Given the description of an element on the screen output the (x, y) to click on. 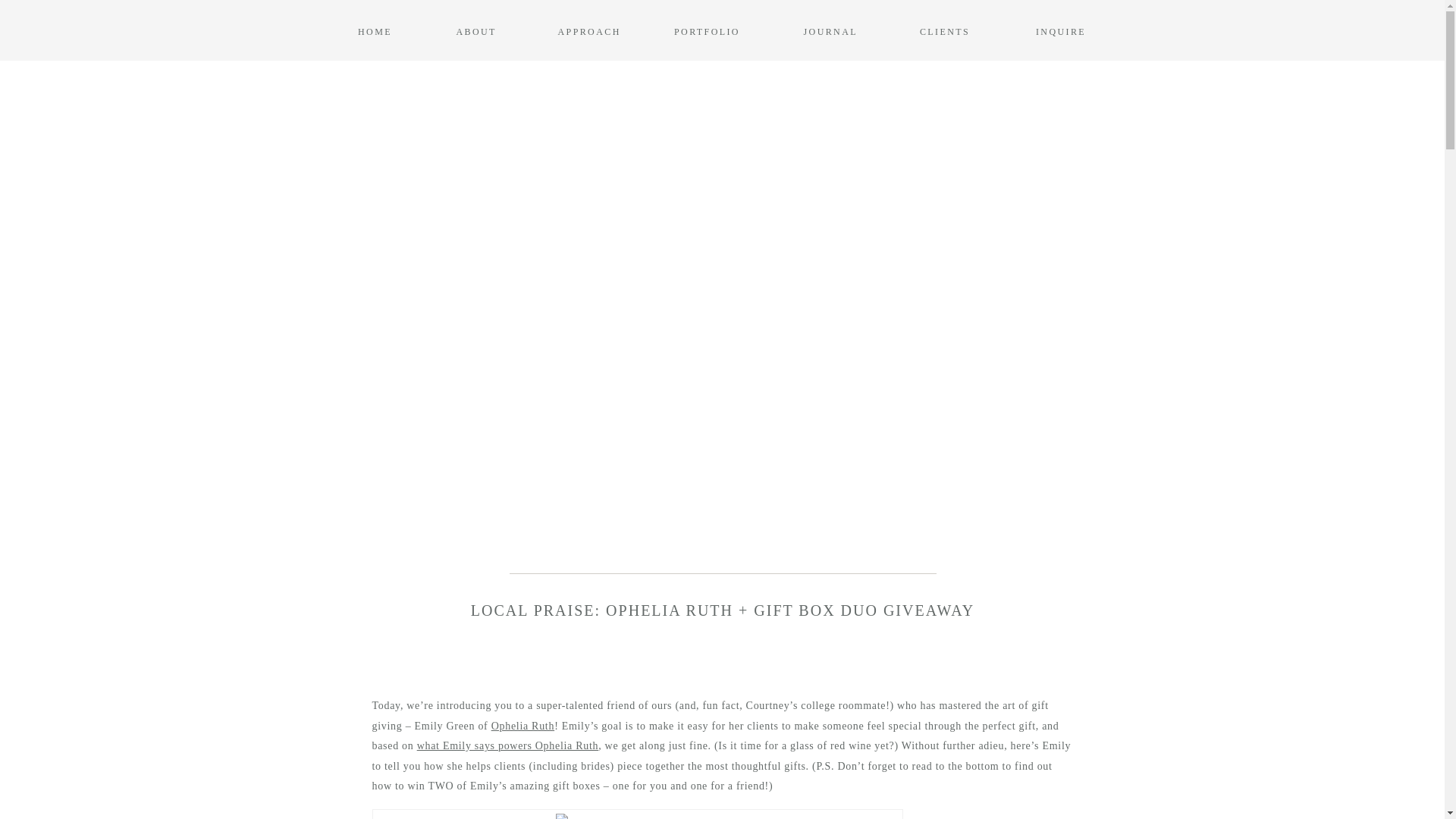
INQUIRE (1059, 30)
ABOUT (476, 30)
CLIENTS (943, 30)
APPROACH (583, 30)
HOME (374, 30)
PORTFOLIO (706, 30)
JOURNAL (830, 30)
what Emily says powers Ophelia Ruth (507, 745)
Ophelia Ruth (523, 726)
